Given the description of an element on the screen output the (x, y) to click on. 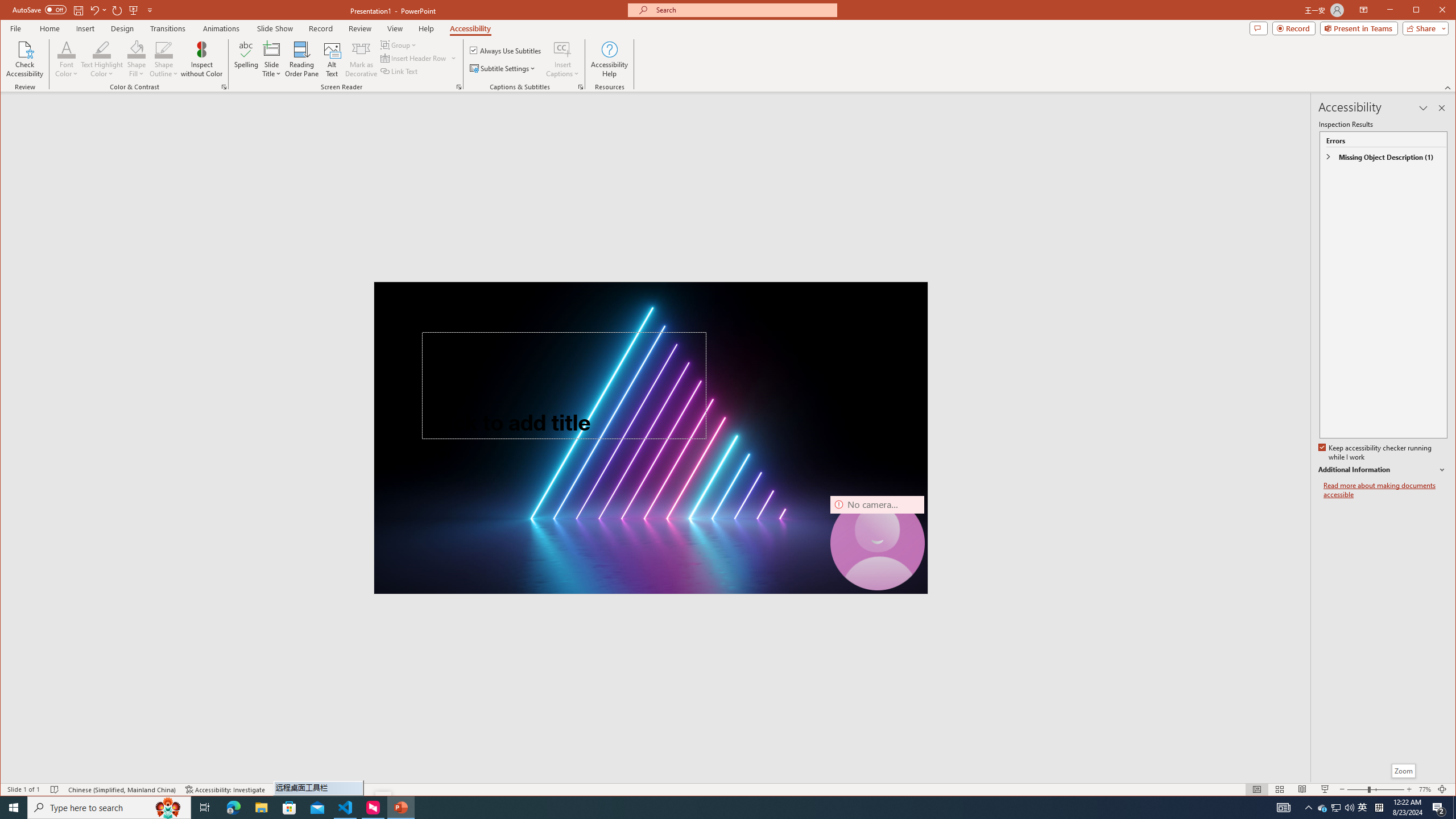
Zoom 77% (1424, 789)
